Given the description of an element on the screen output the (x, y) to click on. 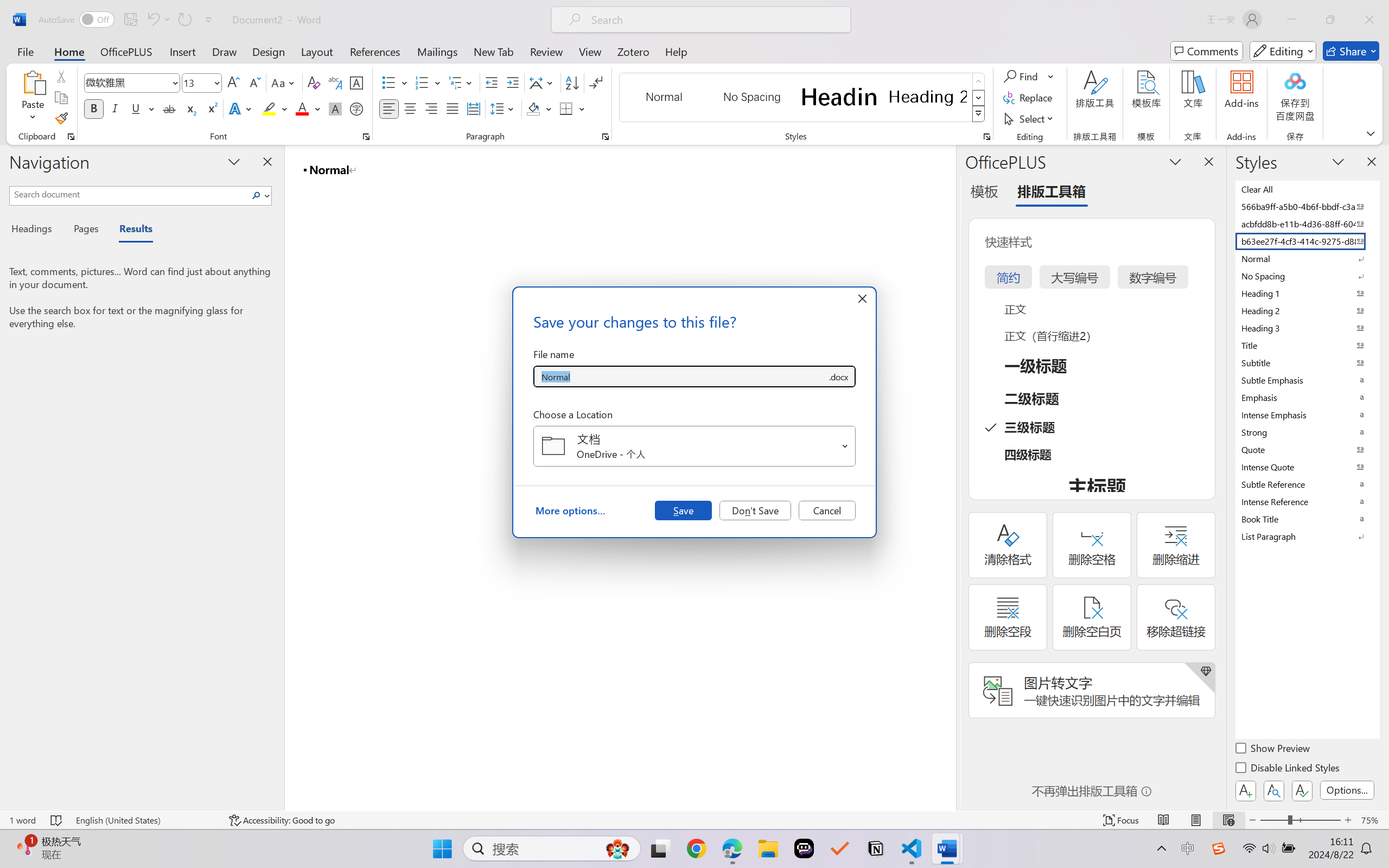
Superscript (210, 108)
b63ee27f-4cf3-414c-9275-d88e3f90795e (1306, 240)
No Spacing (1306, 275)
Copy (60, 97)
Zoom (1300, 819)
Line and Paragraph Spacing (503, 108)
List Paragraph (1306, 536)
Insert (182, 51)
Word Count 1 word (21, 819)
